Given the description of an element on the screen output the (x, y) to click on. 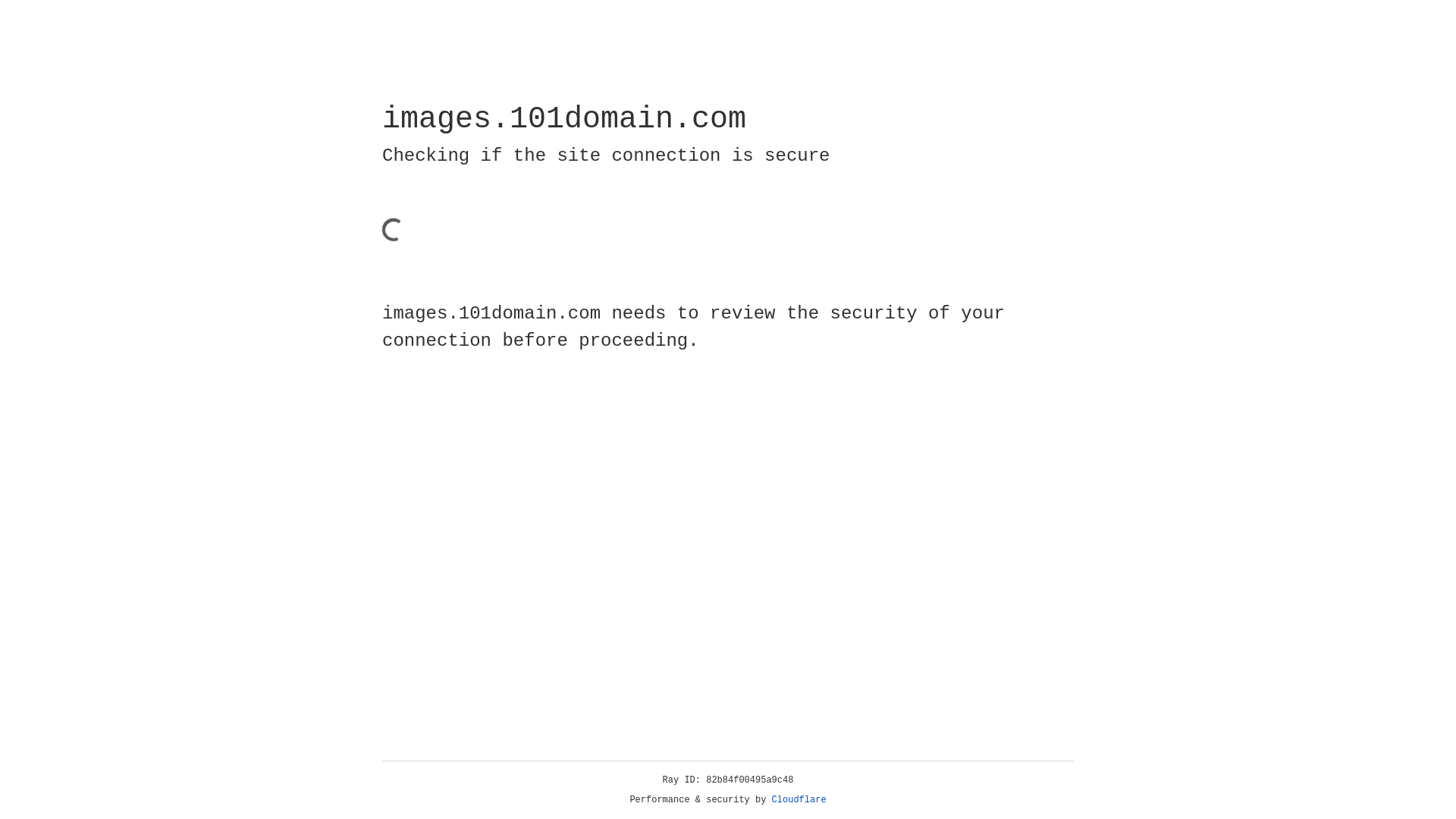
Cloudflare Element type: text (798, 799)
